Given the description of an element on the screen output the (x, y) to click on. 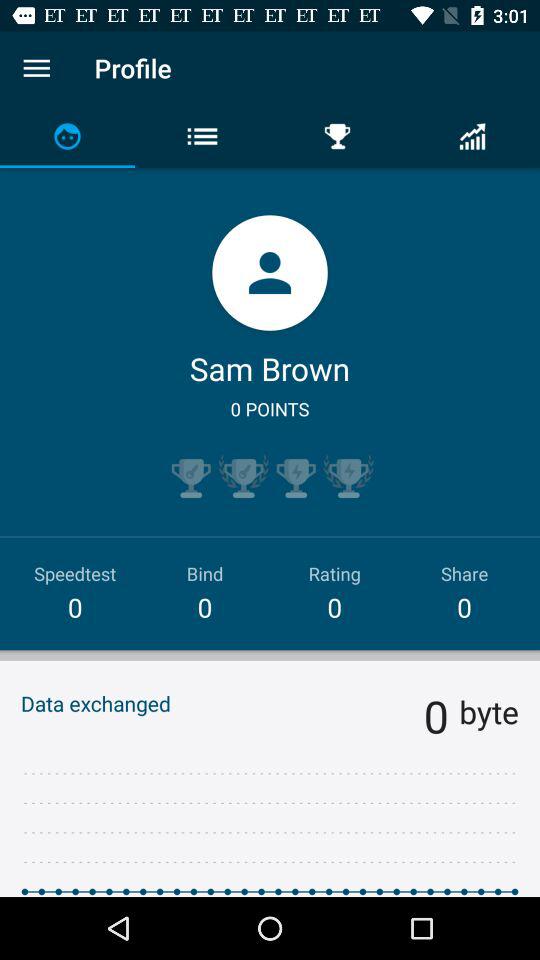
open item to the left of profile (36, 68)
